Given the description of an element on the screen output the (x, y) to click on. 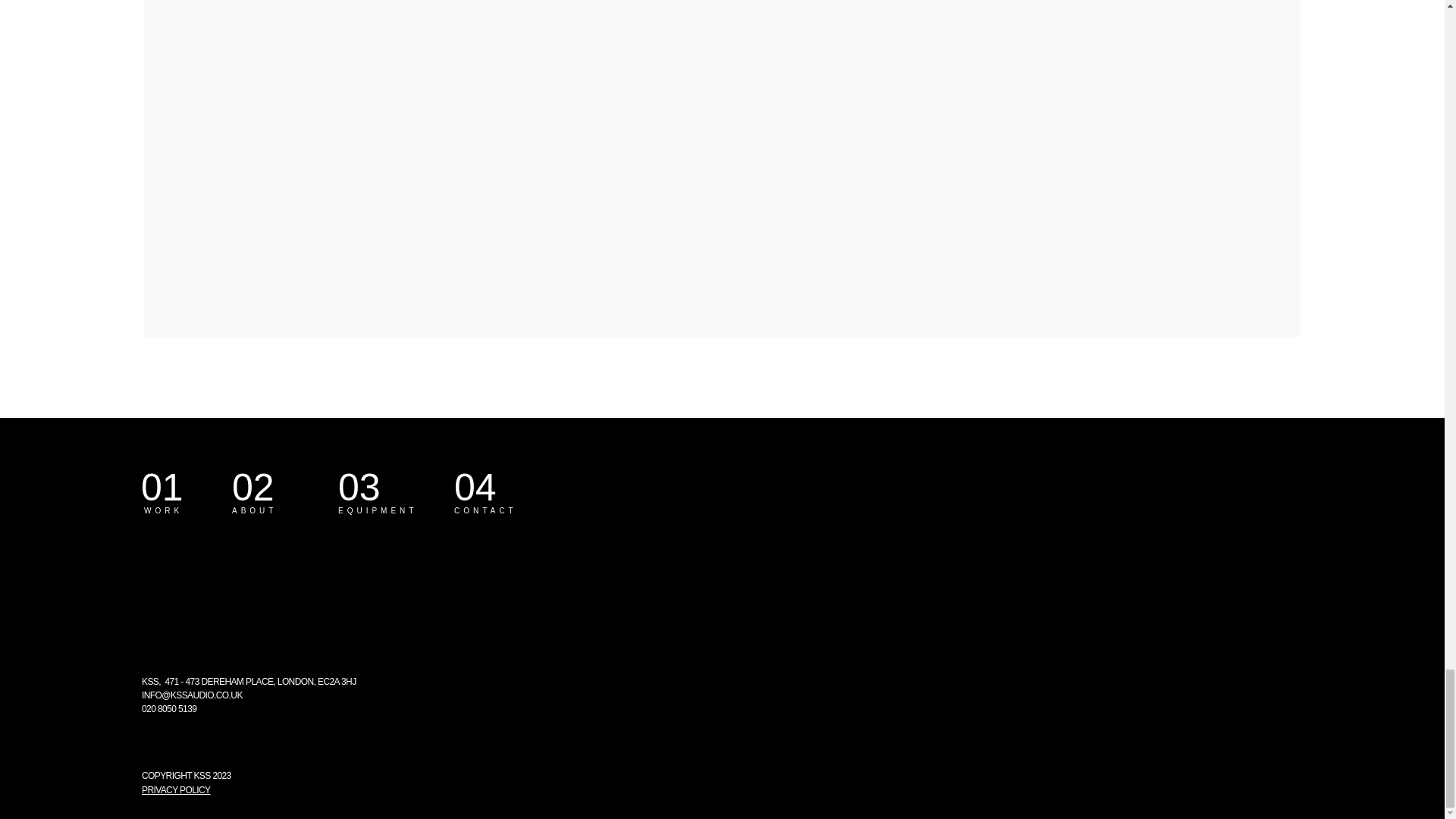
01 (190, 487)
02 (280, 487)
ABOUT (253, 510)
EQUIPMENT (376, 510)
WORK (163, 510)
03 (386, 487)
KSS,  471 - 473 DEREHAM PLACE, LONDON, EC2A 3HJ (248, 681)
020 8050 5139 (168, 708)
PRIVACY POLICY (176, 789)
CONTACT (485, 510)
